Given the description of an element on the screen output the (x, y) to click on. 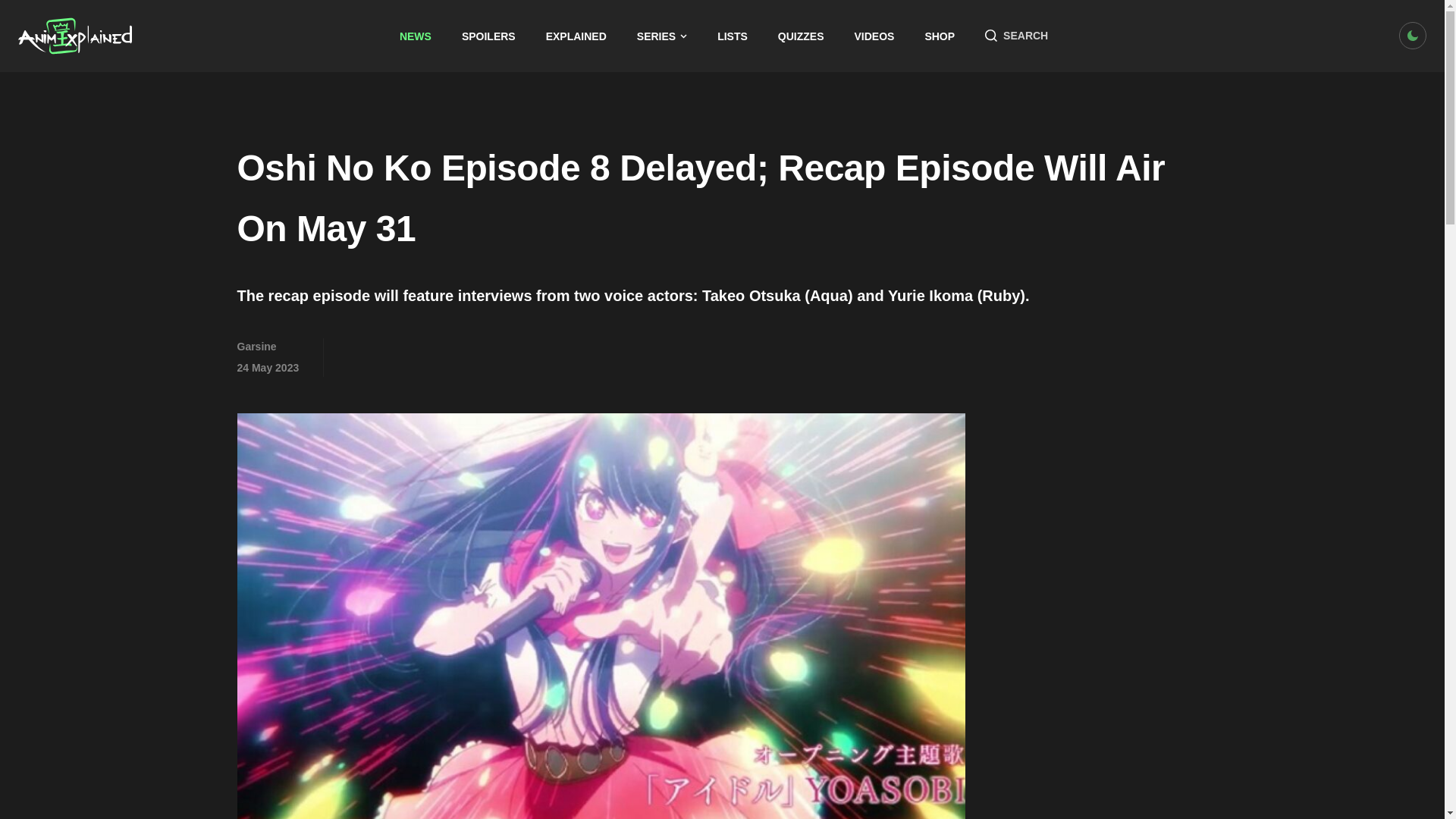
dark mode (1412, 35)
LISTS (732, 36)
EXPLAINED (576, 36)
VIDEOS (874, 36)
NEWS (414, 36)
QUIZZES (800, 36)
SHOP (939, 36)
SPOILERS (488, 36)
SERIES (662, 36)
Garsine (255, 346)
